Given the description of an element on the screen output the (x, y) to click on. 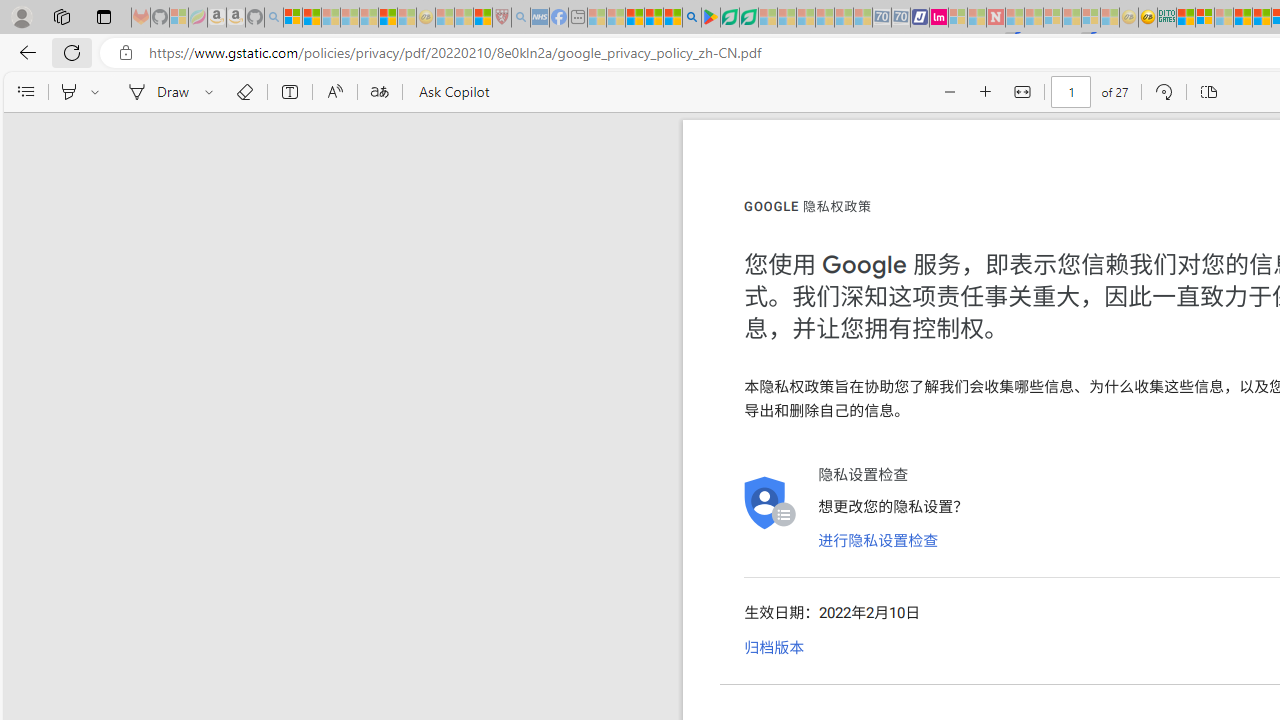
Translate (379, 92)
Robert H. Shmerling, MD - Harvard Health - Sleeping (501, 17)
Terms of Use Agreement (729, 17)
Jobs - lastminute.com Investor Portal (939, 17)
Cheap Car Rentals - Save70.com - Sleeping (881, 17)
Ask Copilot (452, 92)
list of asthma inhalers uk - Search - Sleeping (520, 17)
google - Search (692, 17)
New Report Confirms 2023 Was Record Hot | Watch - Sleeping (368, 17)
Read aloud (334, 92)
